Given the description of an element on the screen output the (x, y) to click on. 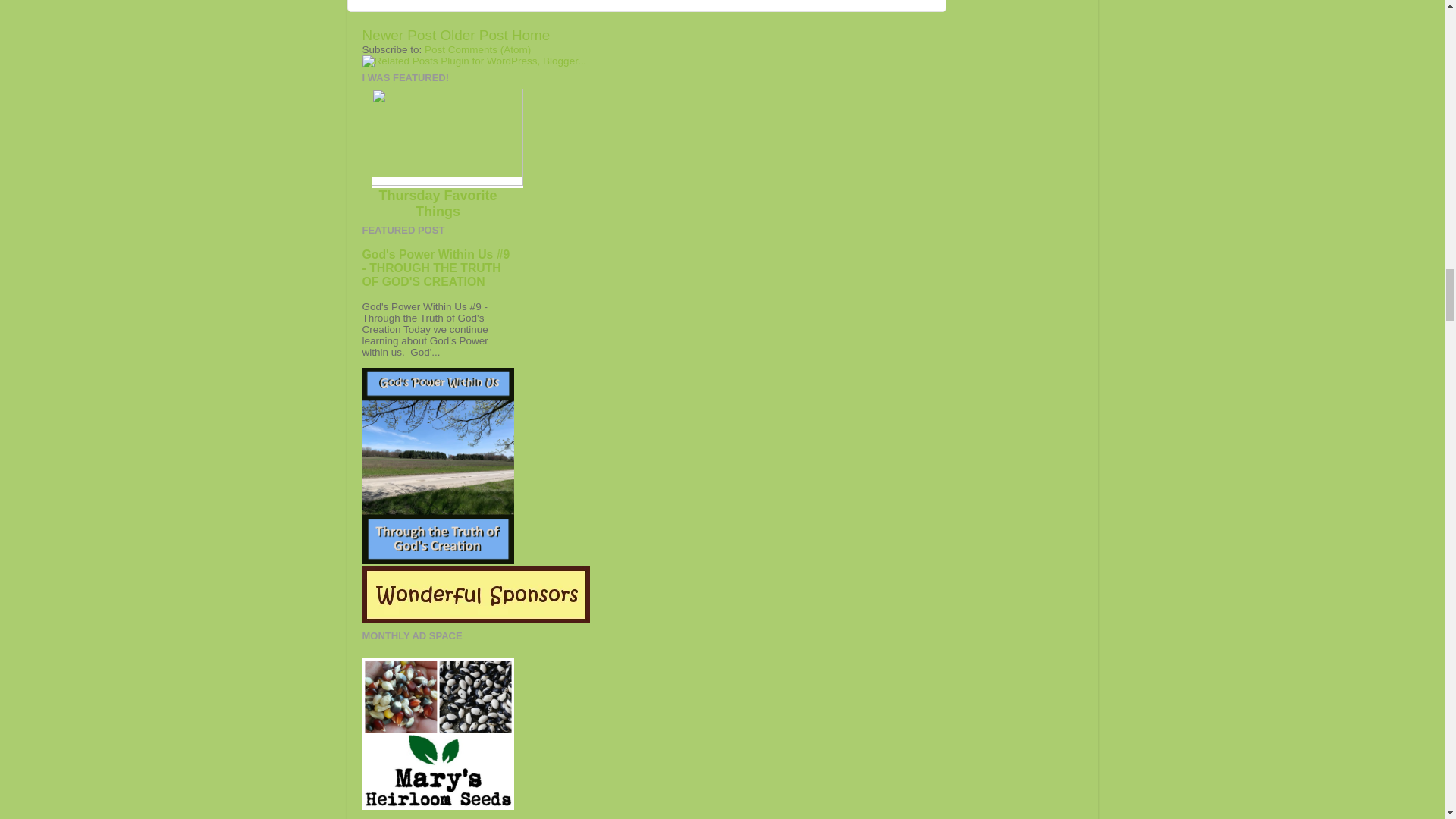
Older Post (472, 35)
Newer Post (399, 35)
